Given the description of an element on the screen output the (x, y) to click on. 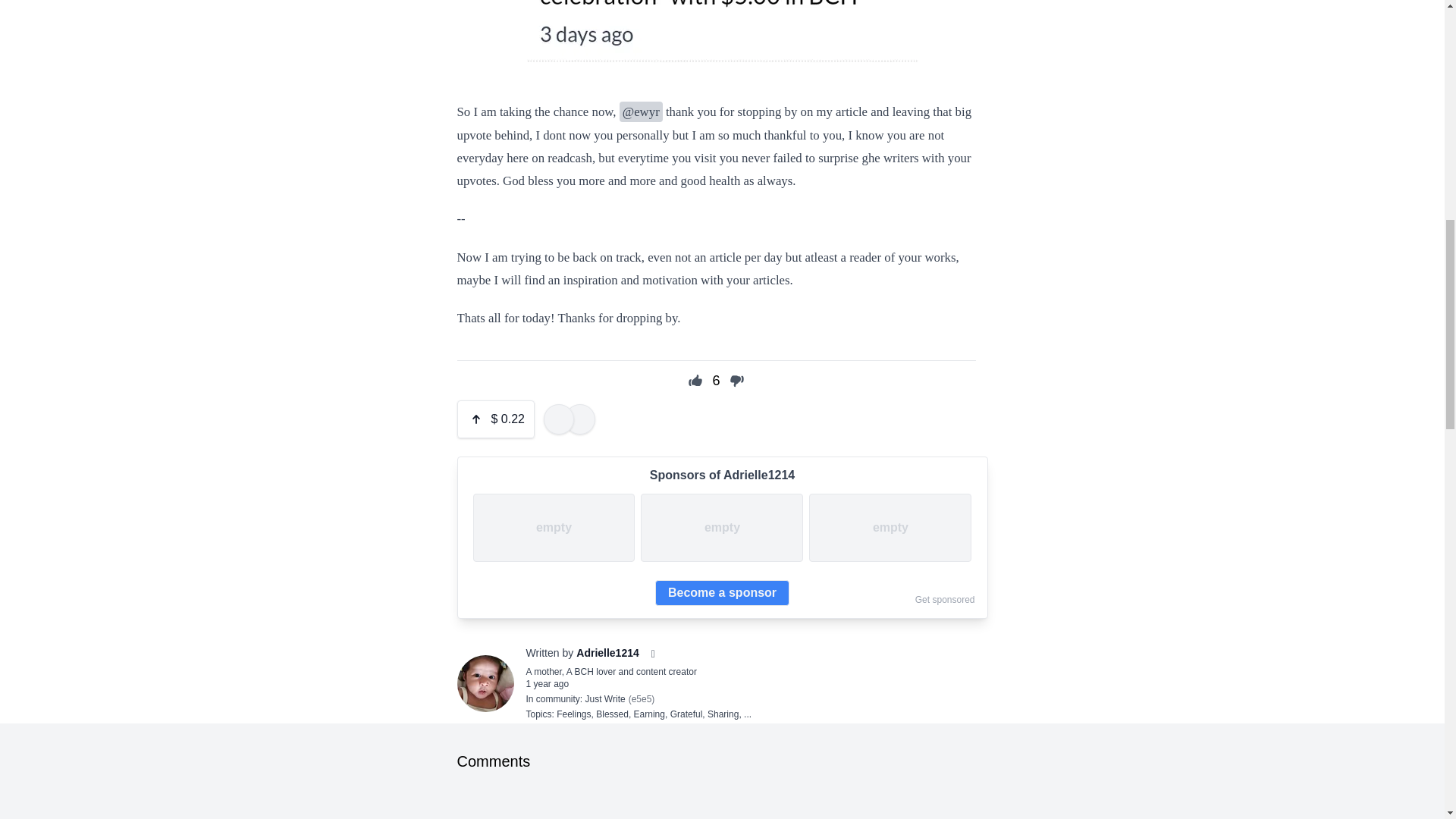
Get sponsored (945, 599)
community (557, 698)
Sharing (722, 714)
Adrielle1214 (607, 652)
Grateful (686, 714)
Feelings (573, 714)
Become a sponsor (722, 592)
Blessed (611, 714)
Earning (649, 714)
2023-01-10 05:35:24 (547, 683)
